Given the description of an element on the screen output the (x, y) to click on. 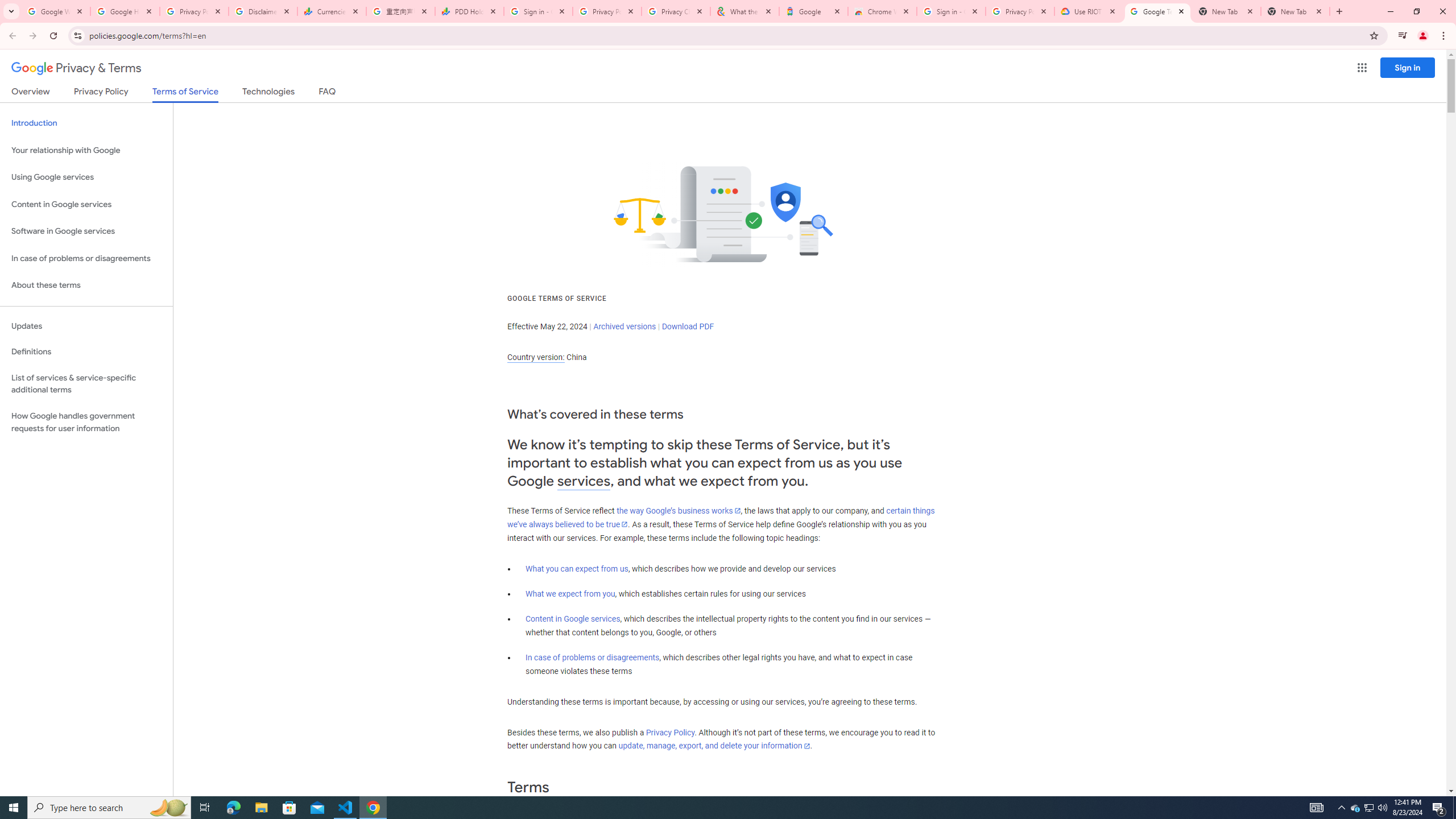
Your relationship with Google (86, 150)
Google (813, 11)
Download PDF (687, 326)
Chrome Web Store - Color themes by Chrome (882, 11)
Currencies - Google Finance (331, 11)
Archived versions (624, 326)
Privacy Checkup (675, 11)
